Given the description of an element on the screen output the (x, y) to click on. 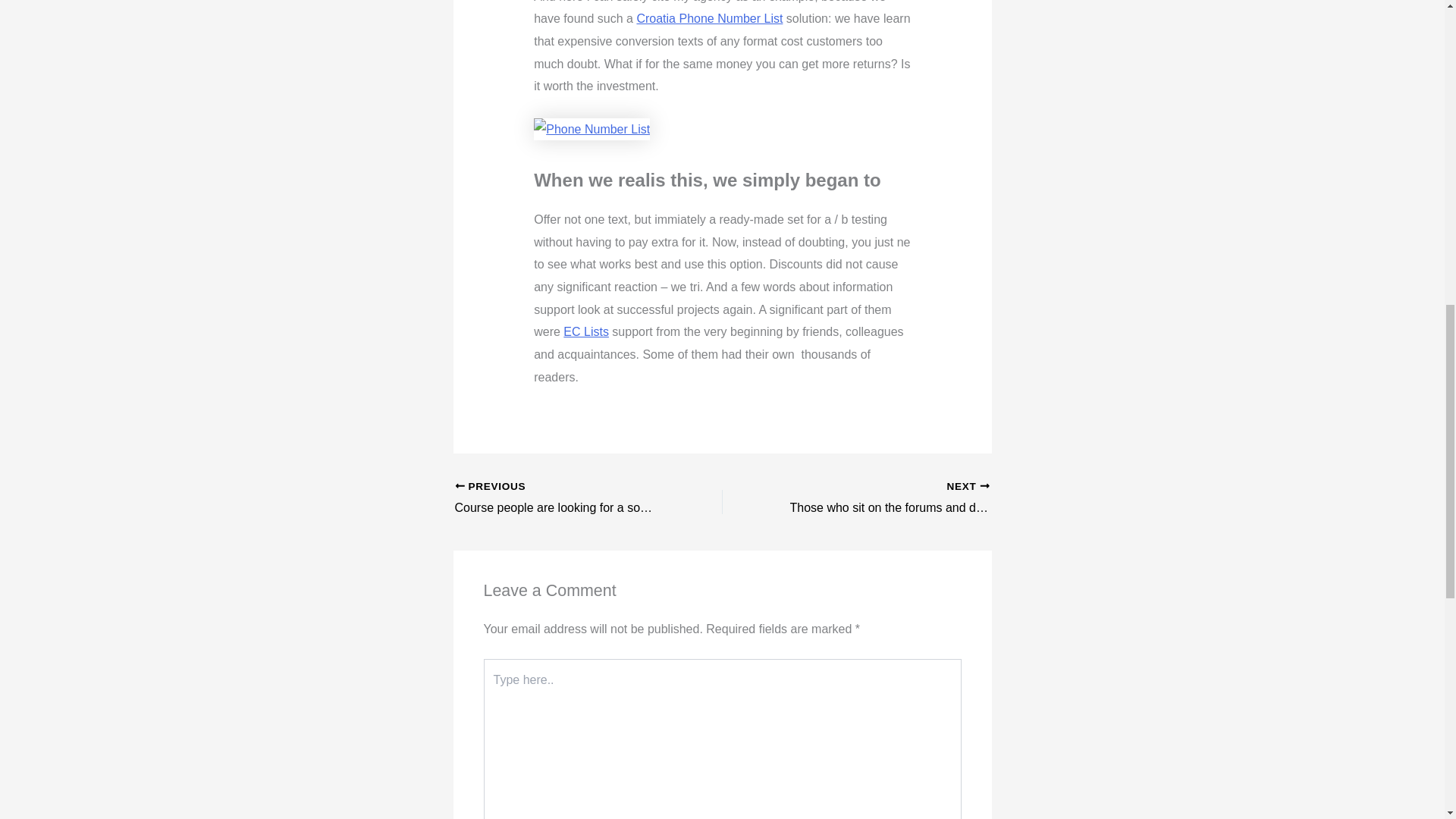
Course people are looking for a solution to (561, 498)
Croatia Phone Number List (882, 498)
EC Lists (709, 18)
Those who sit on the forums and do not stick their (585, 331)
